Given the description of an element on the screen output the (x, y) to click on. 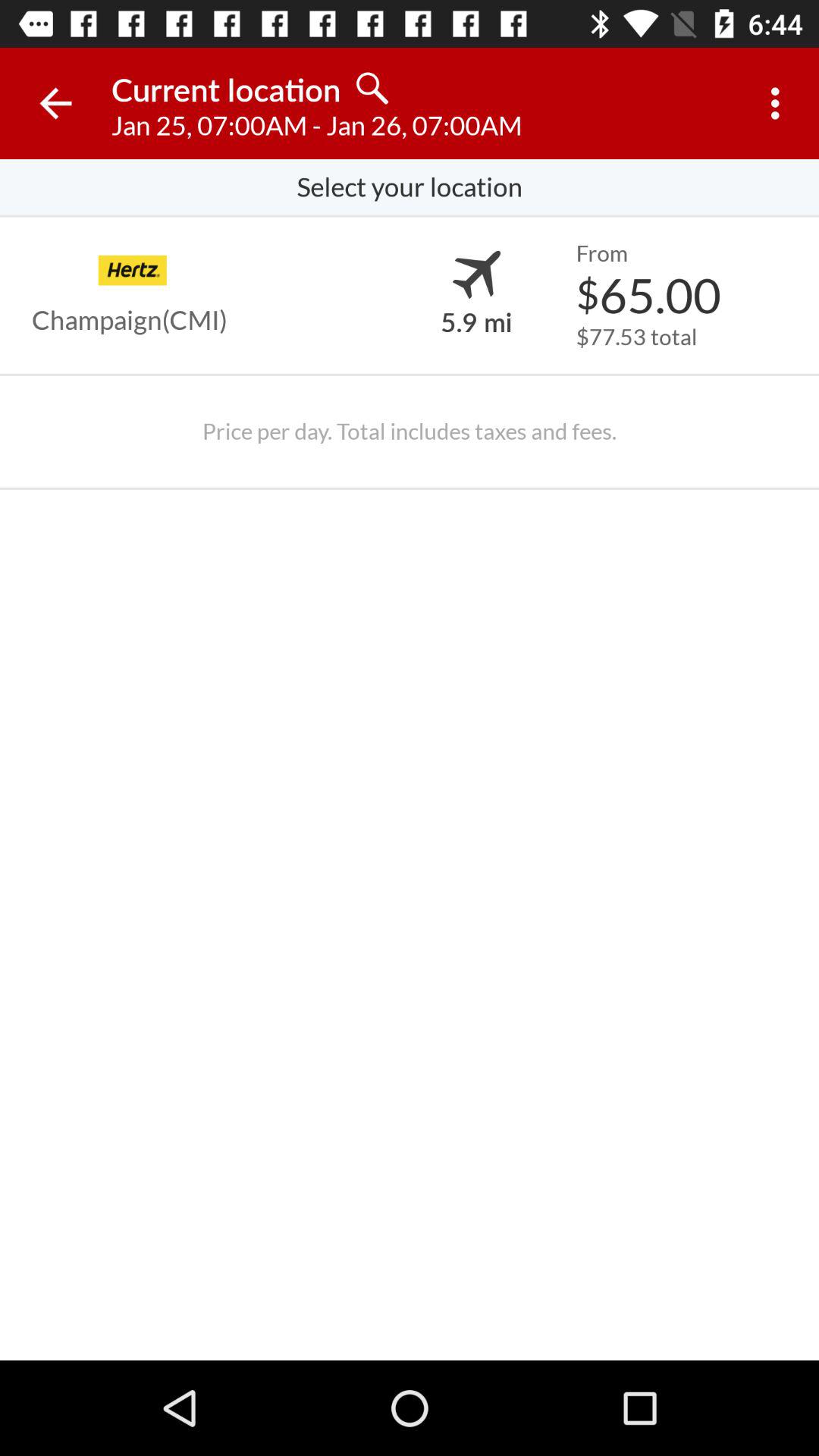
press the icon above price per day icon (636, 336)
